Given the description of an element on the screen output the (x, y) to click on. 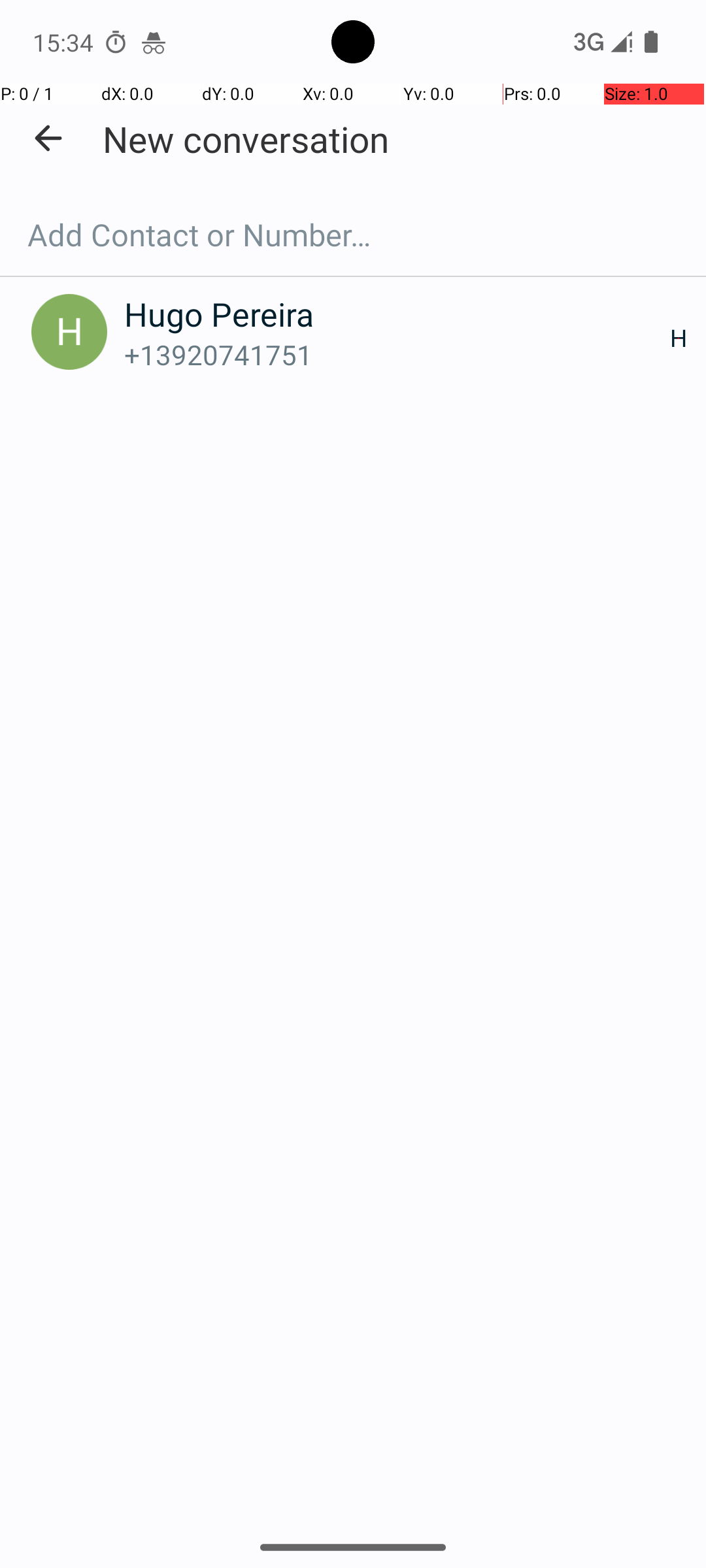
+13920741751 Element type: android.widget.TextView (397, 354)
